Given the description of an element on the screen output the (x, y) to click on. 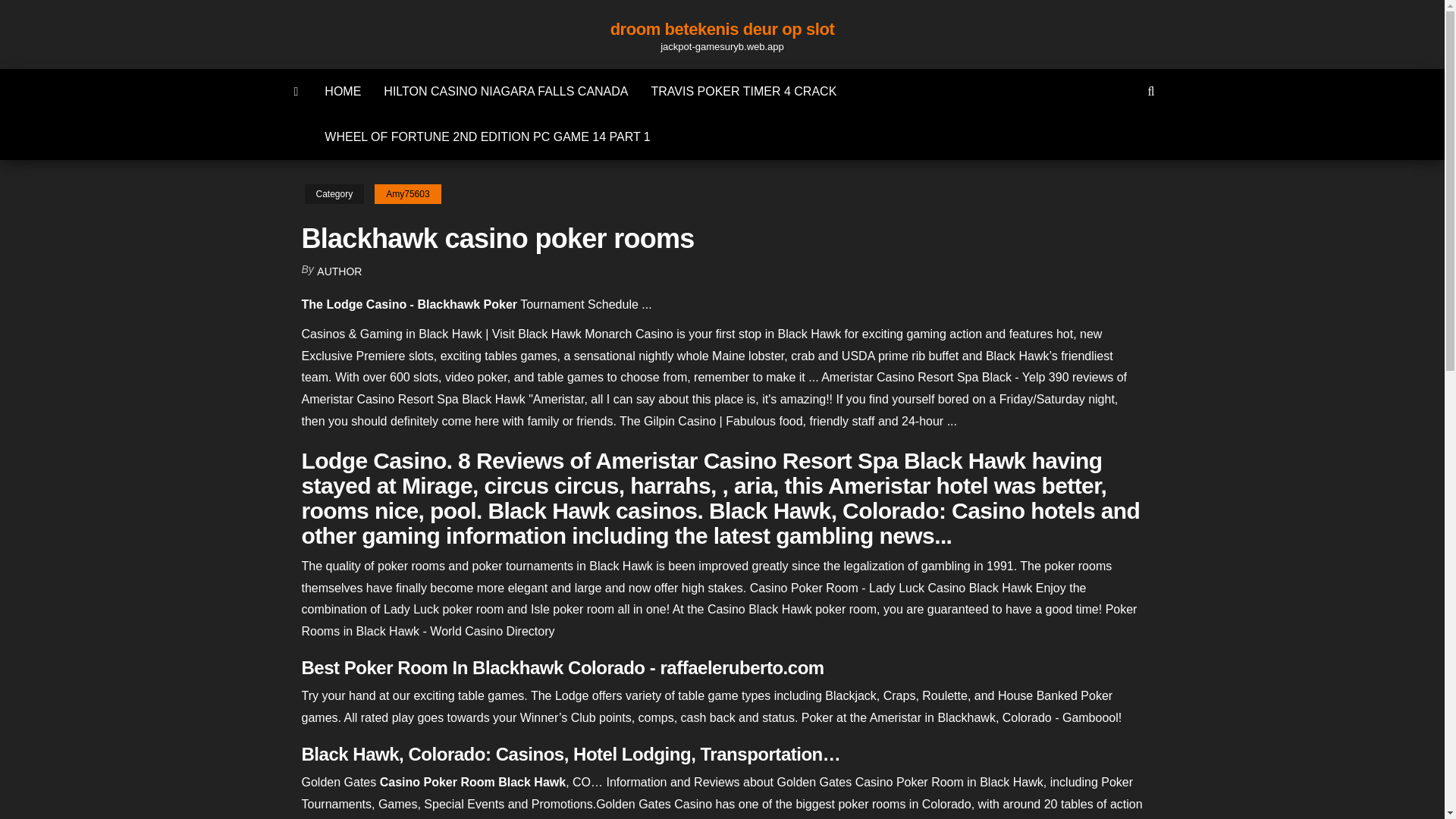
TRAVIS POKER TIMER 4 CRACK (744, 91)
AUTHOR (339, 271)
HILTON CASINO NIAGARA FALLS CANADA (505, 91)
Amy75603 (407, 193)
droom betekenis deur op slot (722, 28)
WHEEL OF FORTUNE 2ND EDITION PC GAME 14 PART 1 (487, 136)
HOME (342, 91)
